Given the description of an element on the screen output the (x, y) to click on. 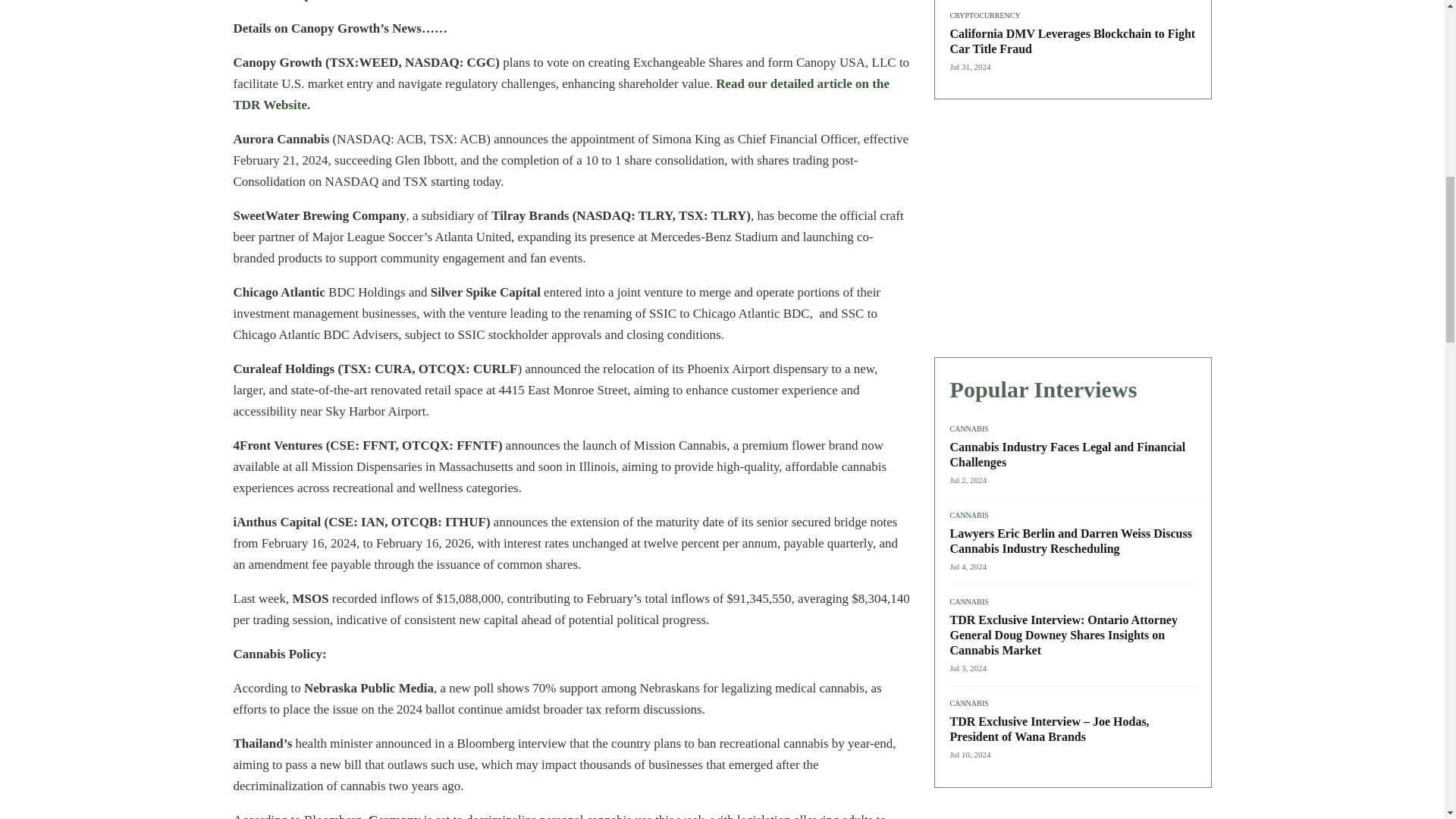
Read our (743, 83)
detailed article on the TDR Website. (560, 94)
